Given the description of an element on the screen output the (x, y) to click on. 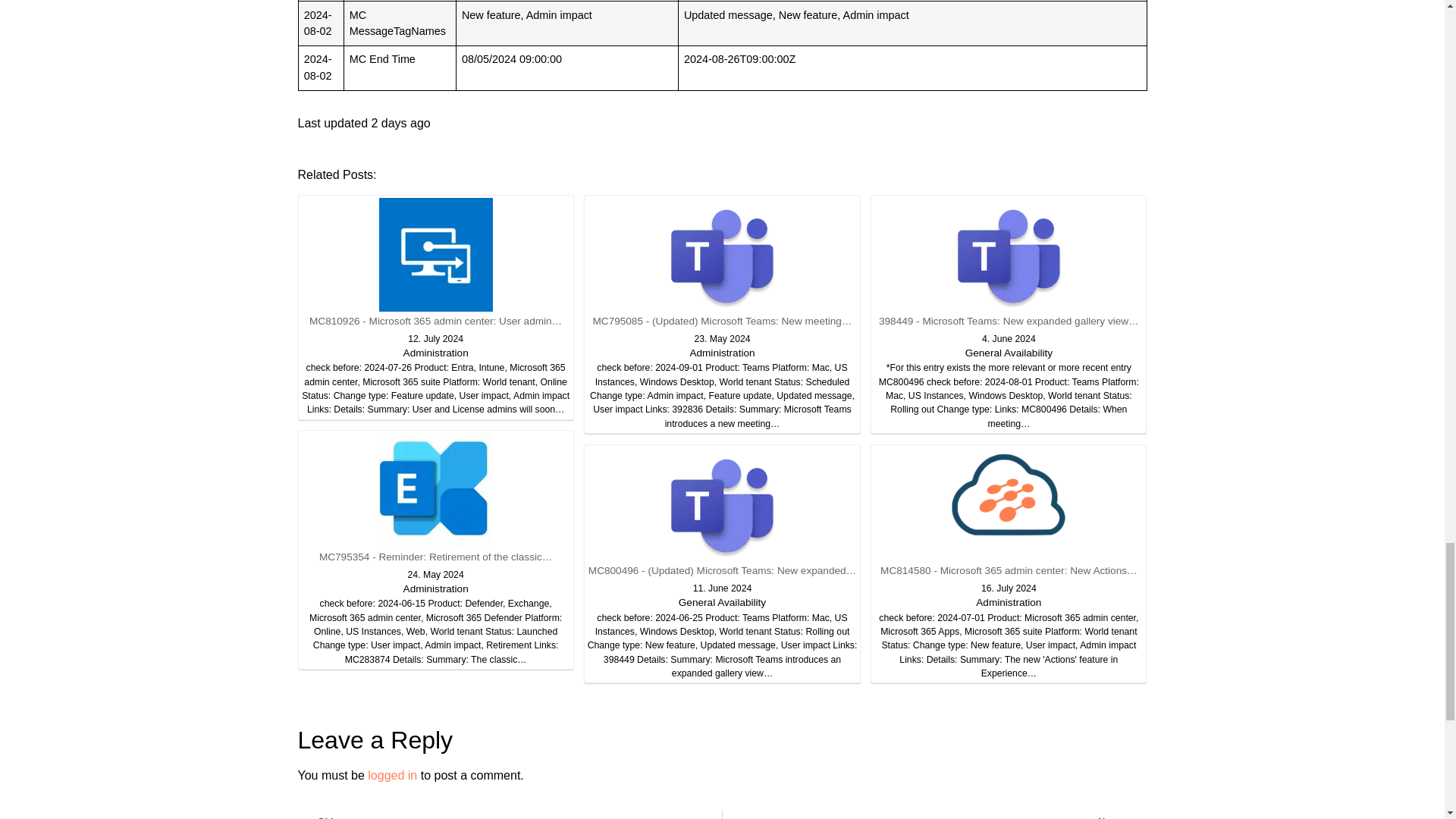
logged in (392, 775)
